Given the description of an element on the screen output the (x, y) to click on. 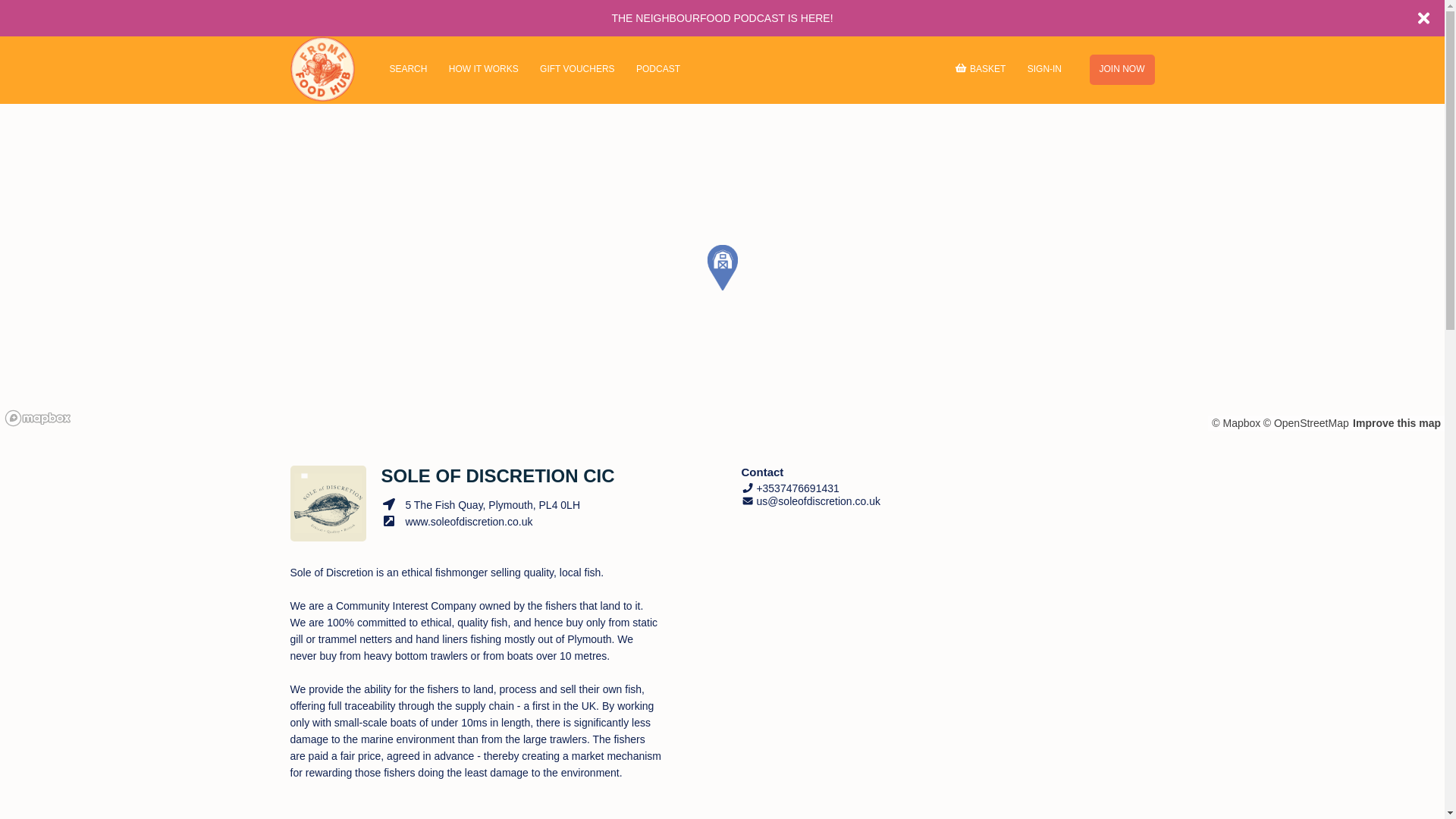
Mapbox (1235, 422)
www.soleofdiscretion.co.uk (456, 521)
OpenStreetMap (1306, 422)
THE NEIGHBOURFOOD PODCAST IS HERE! (721, 18)
BASKET (978, 69)
Improve this map (1396, 422)
JOIN NOW (1121, 69)
Improve this map (1396, 422)
GIFT VOUCHERS (576, 70)
HOW IT WORKS (483, 70)
